Given the description of an element on the screen output the (x, y) to click on. 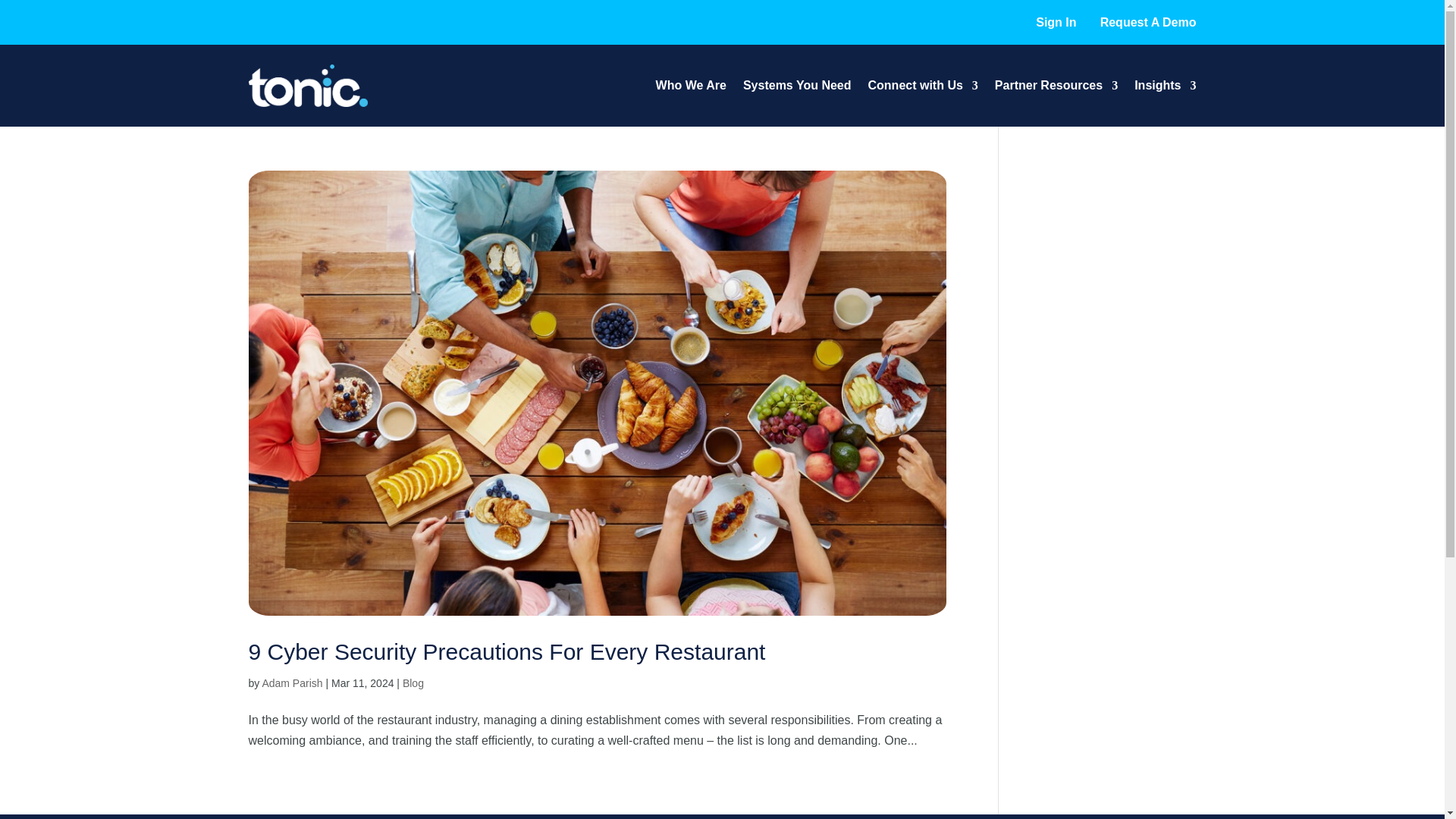
Who We Are (691, 85)
Adam Parish (291, 683)
Systems You Need (796, 85)
Tonic Back Office Login (1055, 21)
Sign In (1055, 21)
Partner Resources (1056, 85)
9 Cyber Security Precautions For Every Restaurant (506, 651)
Posts by Adam Parish (291, 683)
Insights (1164, 85)
Blog (413, 683)
